Given the description of an element on the screen output the (x, y) to click on. 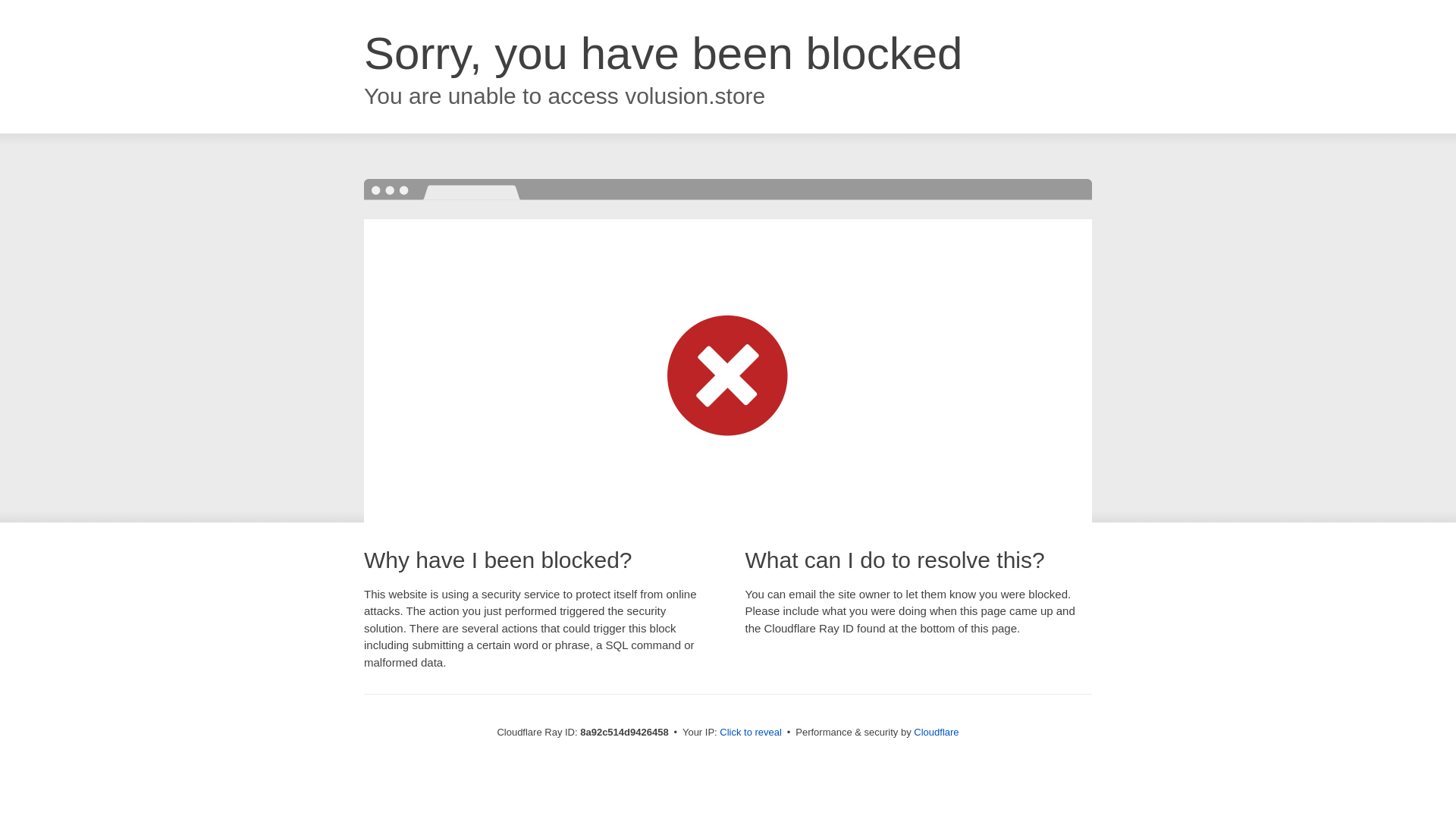
Cloudflare (936, 731)
Click to reveal (750, 732)
